Given the description of an element on the screen output the (x, y) to click on. 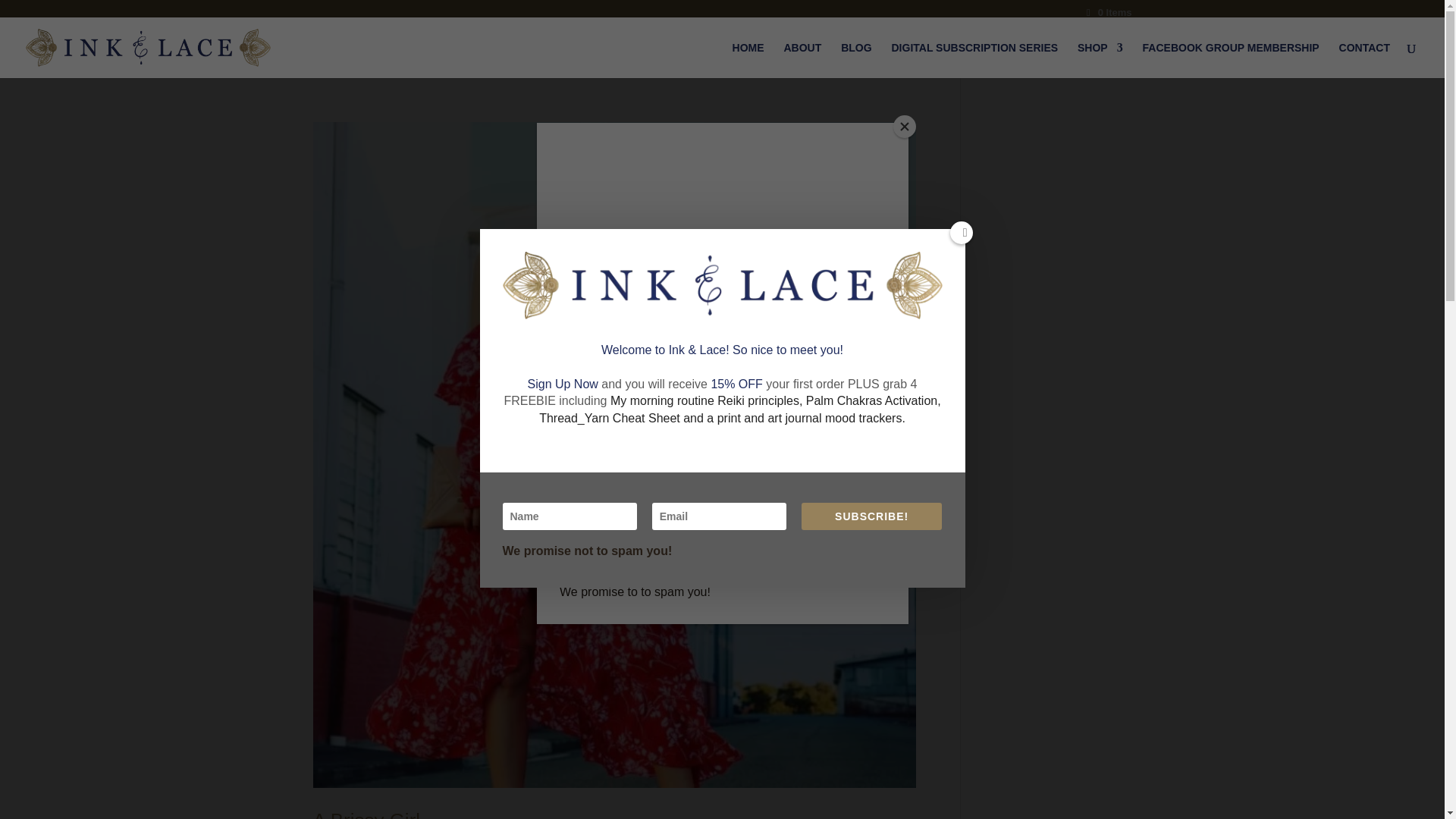
FACEBOOK GROUP MEMBERSHIP (1230, 59)
SHOP (1099, 59)
HOME (748, 59)
DIGITAL SUBSCRIPTION SERIES (974, 59)
0 Items (1107, 12)
CONTACT (1364, 59)
ABOUT (802, 59)
